Given the description of an element on the screen output the (x, y) to click on. 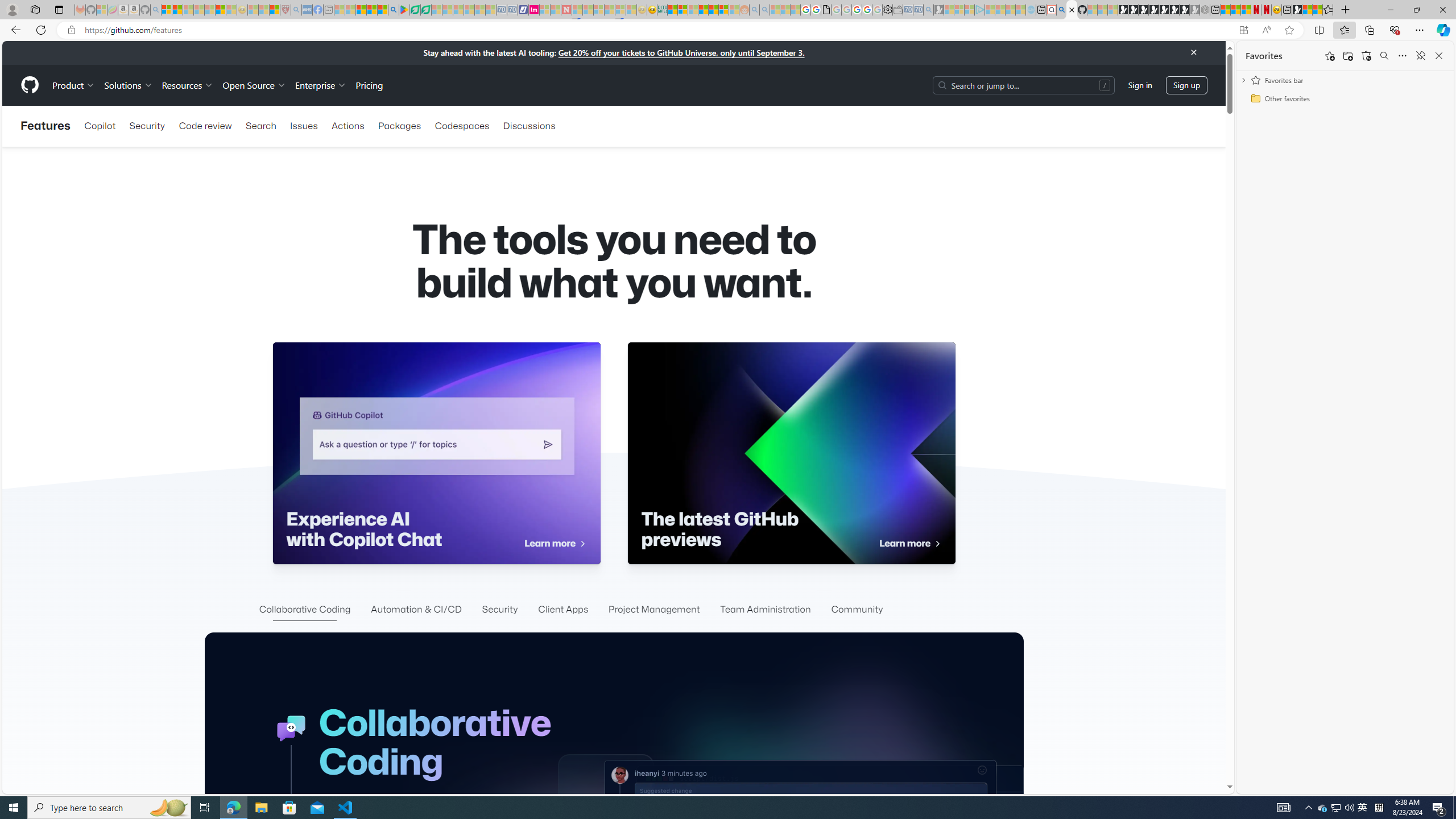
Client Apps (563, 609)
Open Source (254, 84)
Automation & CI/CD (416, 609)
github - Search (1061, 9)
Close favorites (1439, 55)
